Given the description of an element on the screen output the (x, y) to click on. 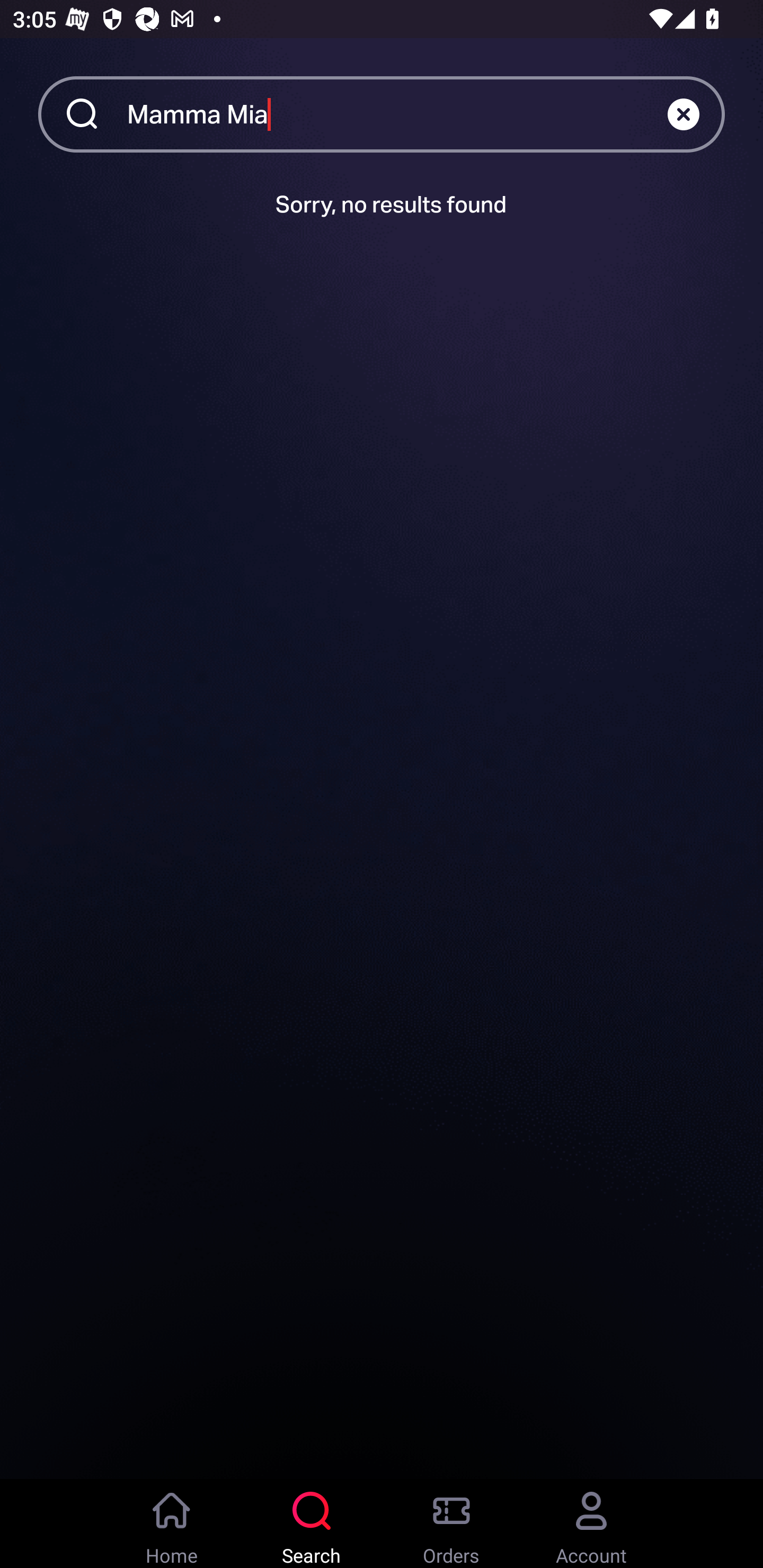
Mamma Mia (397, 113)
Home (171, 1523)
Orders (451, 1523)
Account (591, 1523)
